Given the description of an element on the screen output the (x, y) to click on. 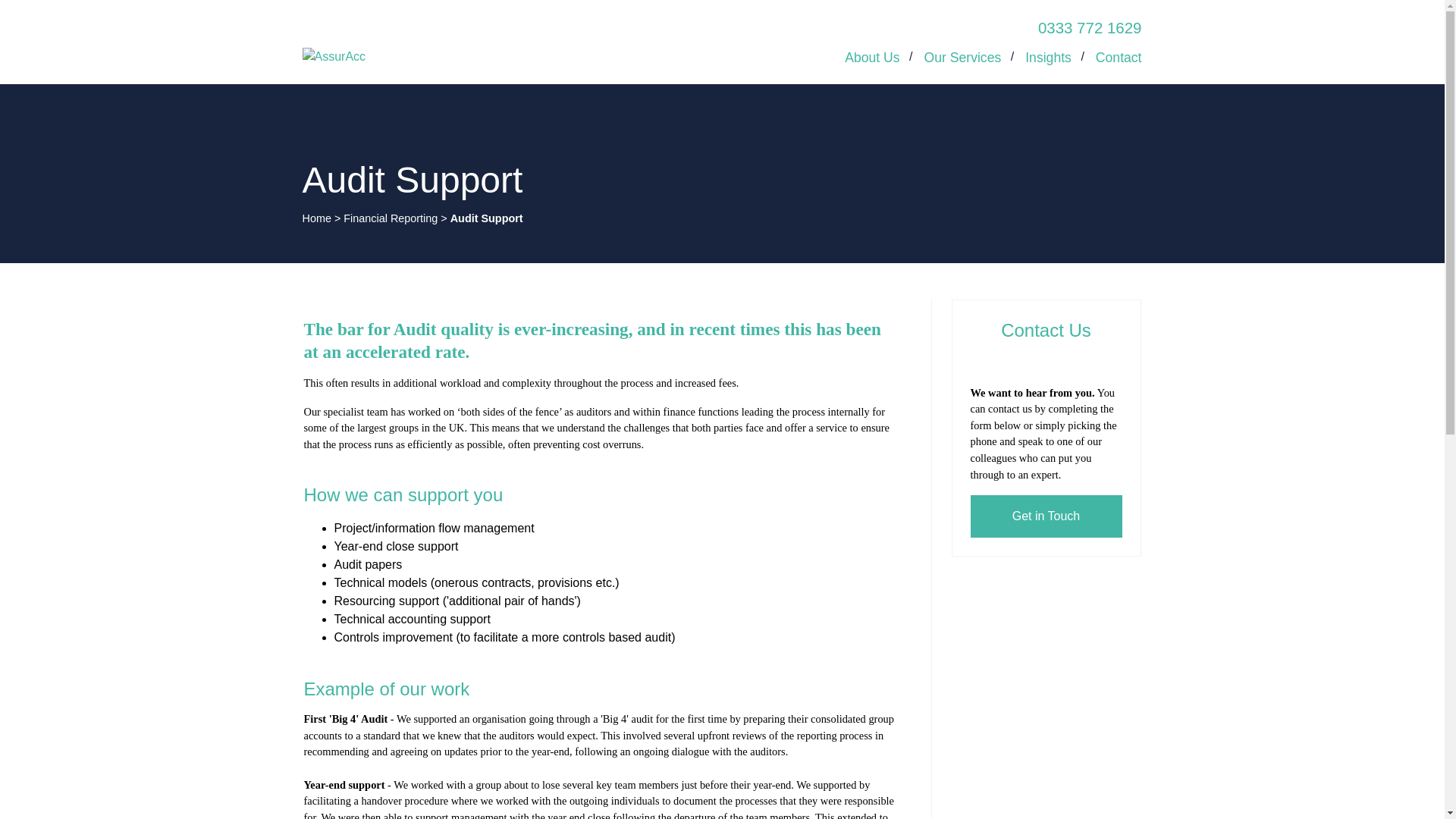
Home (315, 218)
Get in Touch (1046, 516)
0333 772 1629 (1089, 27)
About Us (871, 57)
Financial Reporting (390, 218)
Our Services (962, 57)
Contact (1118, 57)
Insights (1048, 57)
